Given the description of an element on the screen output the (x, y) to click on. 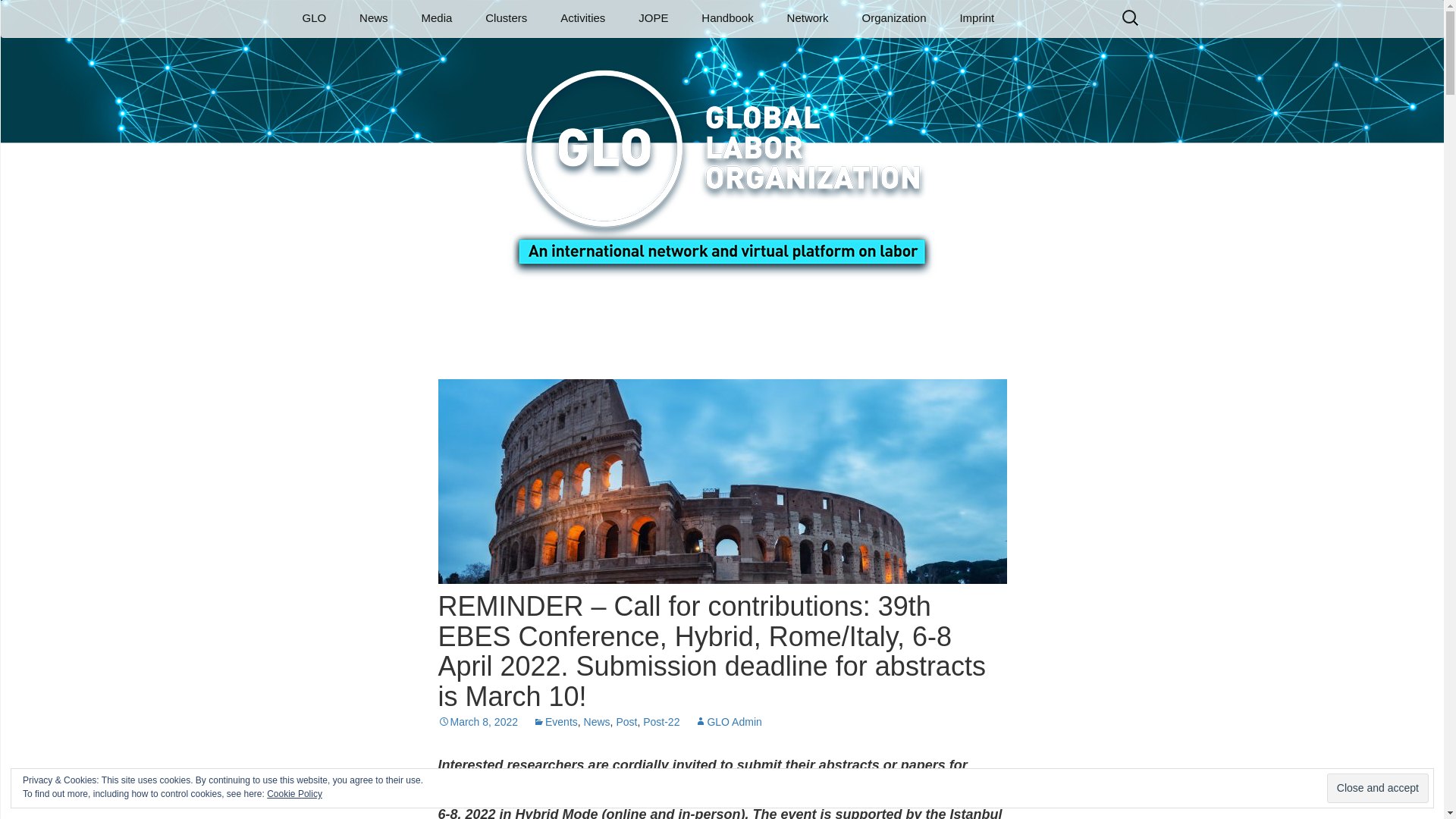
THEMATIC CLUSTERS I (545, 57)
GLO NEWS-24 (419, 51)
Close and accept (1377, 788)
Clusters (505, 17)
MISSION (362, 51)
View all posts by GLO Admin (727, 721)
GLO (313, 17)
Media (436, 17)
News (373, 17)
DISCUSSION PAPERS (481, 51)
